Given the description of an element on the screen output the (x, y) to click on. 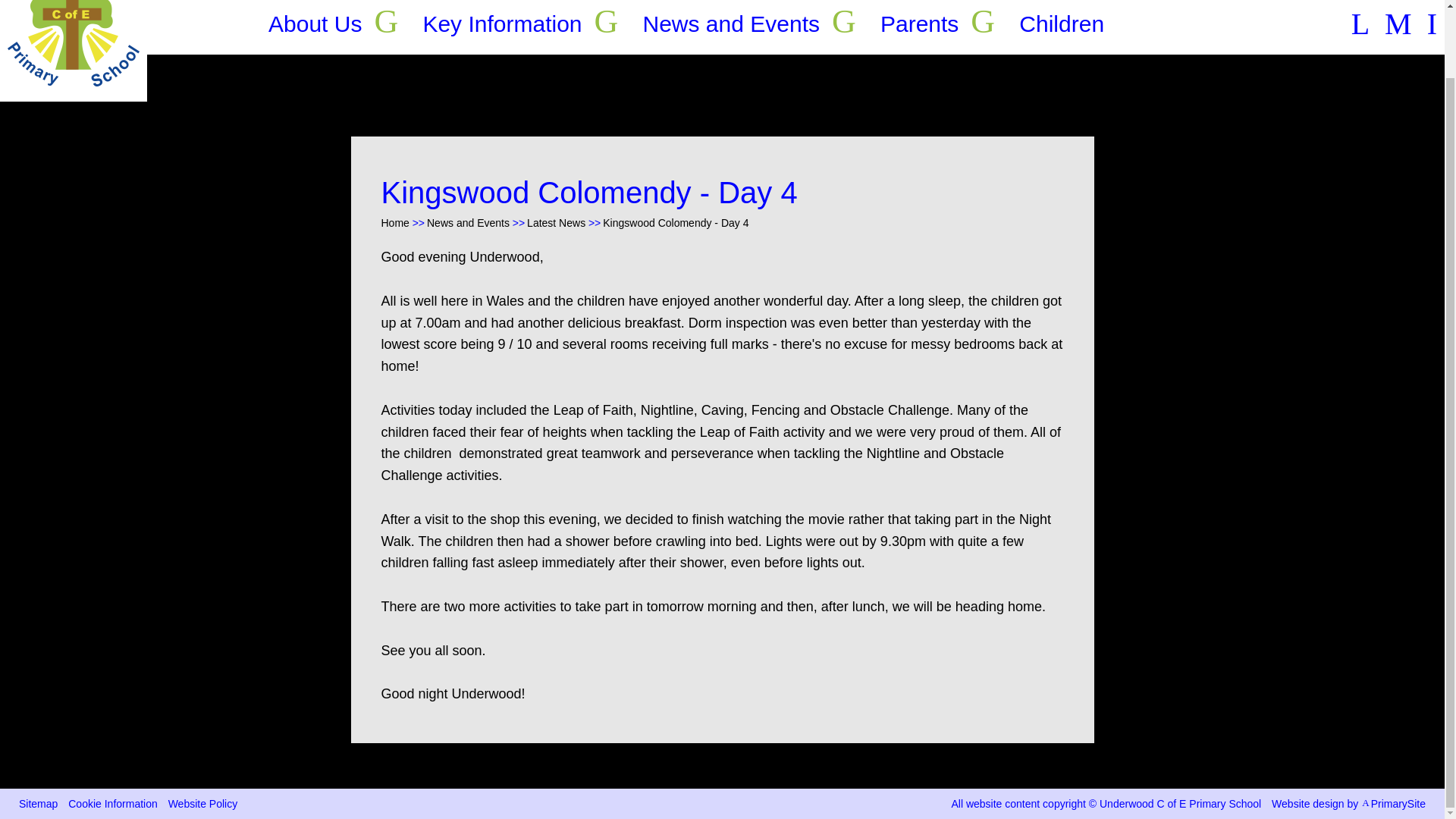
Key Information (501, 27)
About Us (314, 27)
Home Page (73, 50)
